Given the description of an element on the screen output the (x, y) to click on. 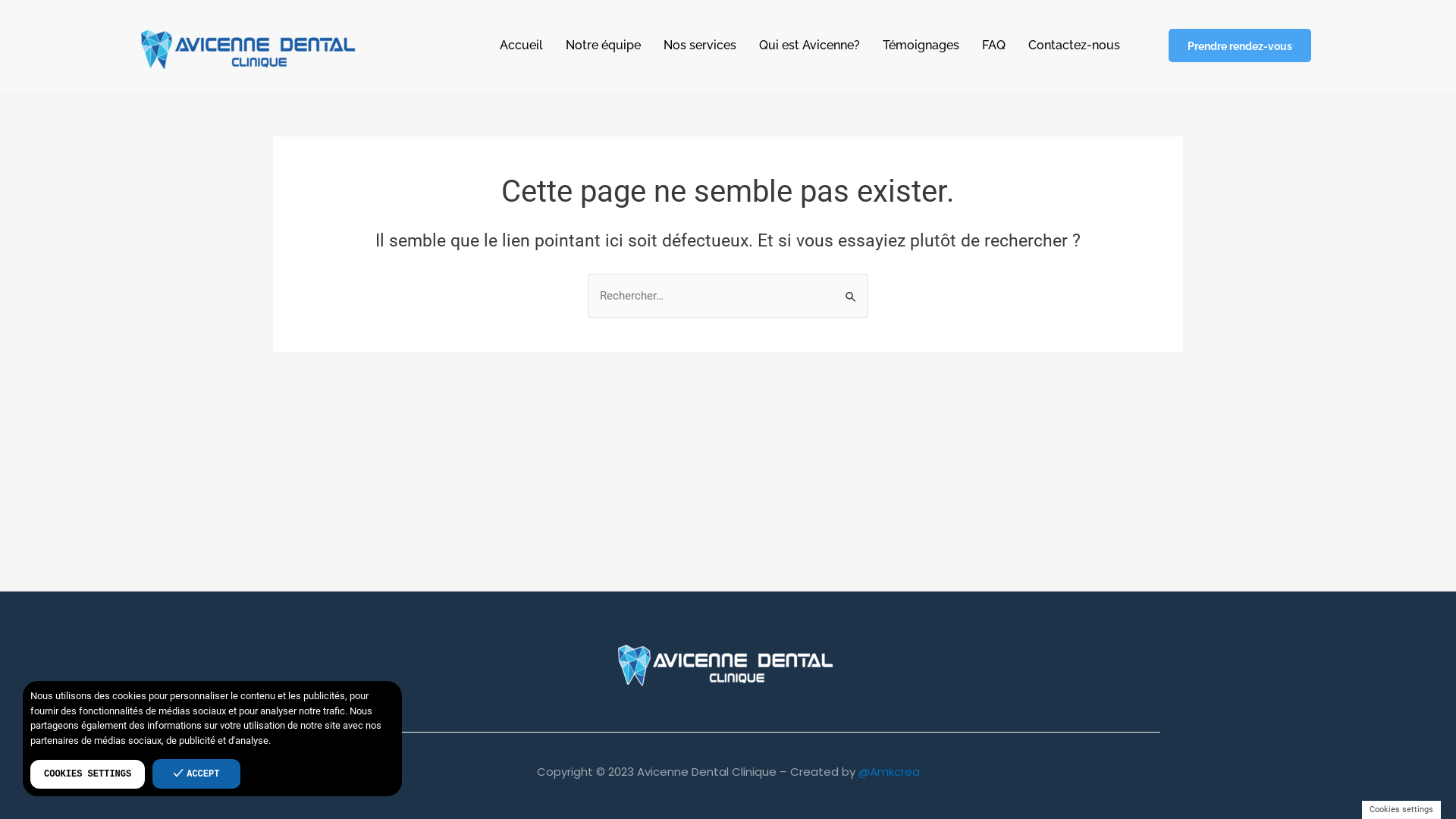
Contactez-nous Element type: text (1073, 45)
FAQ Element type: text (993, 45)
Qui est Avicenne? Element type: text (809, 45)
Nos services Element type: text (699, 45)
@Amkcrea Element type: text (888, 771)
Rechercher Element type: text (851, 288)
Prendre rendez-vous Element type: text (1239, 45)
Accueil Element type: text (521, 45)
